Given the description of an element on the screen output the (x, y) to click on. 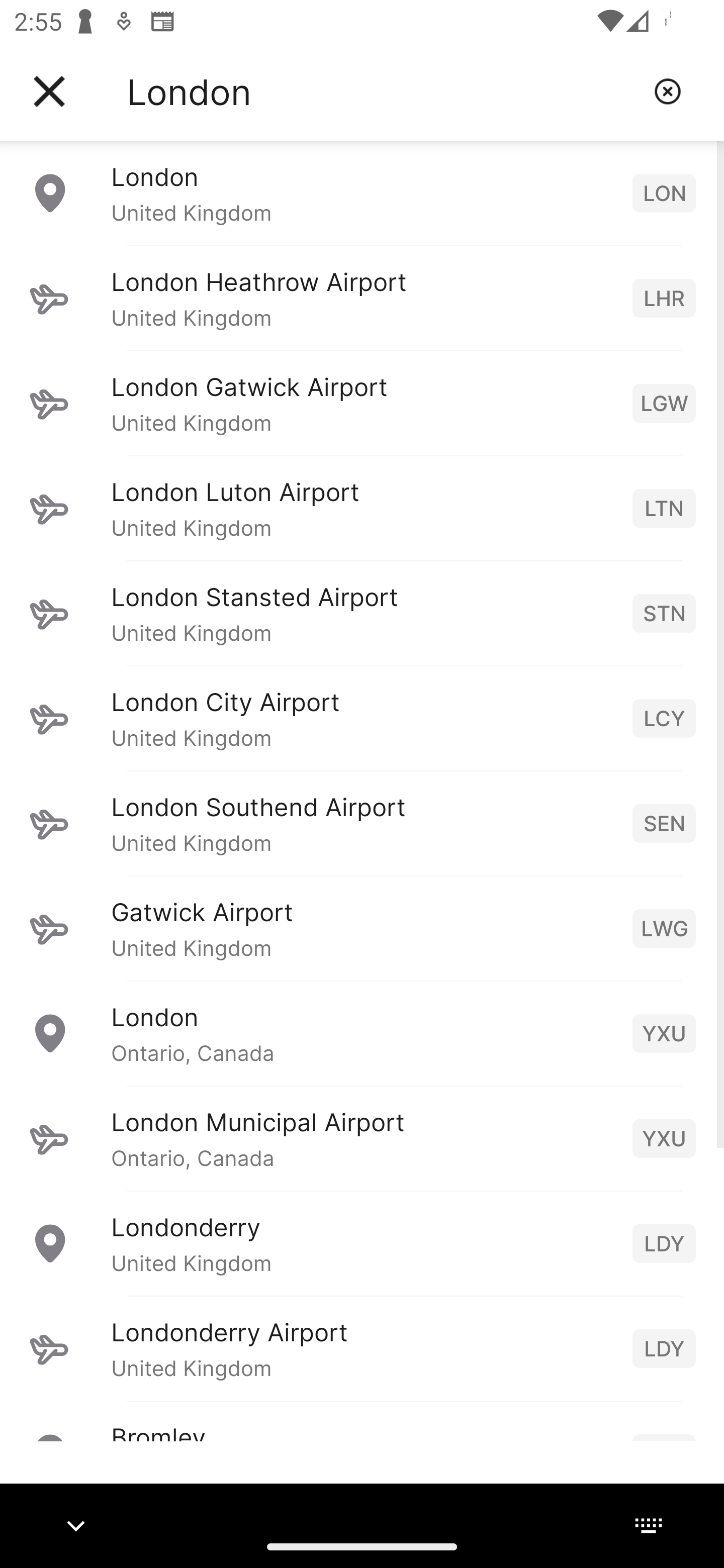
London (382, 91)
London United Kingdom LON (362, 192)
London Heathrow Airport United Kingdom LHR (362, 297)
London Gatwick Airport United Kingdom LGW (362, 402)
London Luton Airport United Kingdom LTN (362, 507)
London Stansted Airport United Kingdom STN (362, 612)
London City Airport United Kingdom LCY (362, 717)
London Southend Airport United Kingdom SEN (362, 822)
Gatwick Airport United Kingdom LWG (362, 928)
London Ontario, Canada YXU (362, 1033)
London Municipal Airport Ontario, Canada YXU (362, 1138)
Londonderry United Kingdom LDY (362, 1243)
Londonderry Airport United Kingdom LDY (362, 1348)
